Given the description of an element on the screen output the (x, y) to click on. 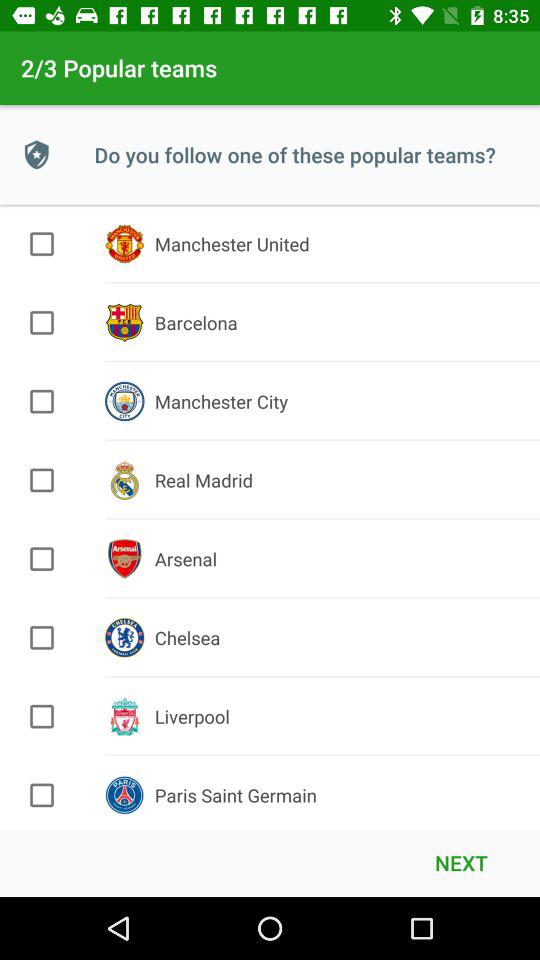
check barcelona team (42, 322)
